Given the description of an element on the screen output the (x, y) to click on. 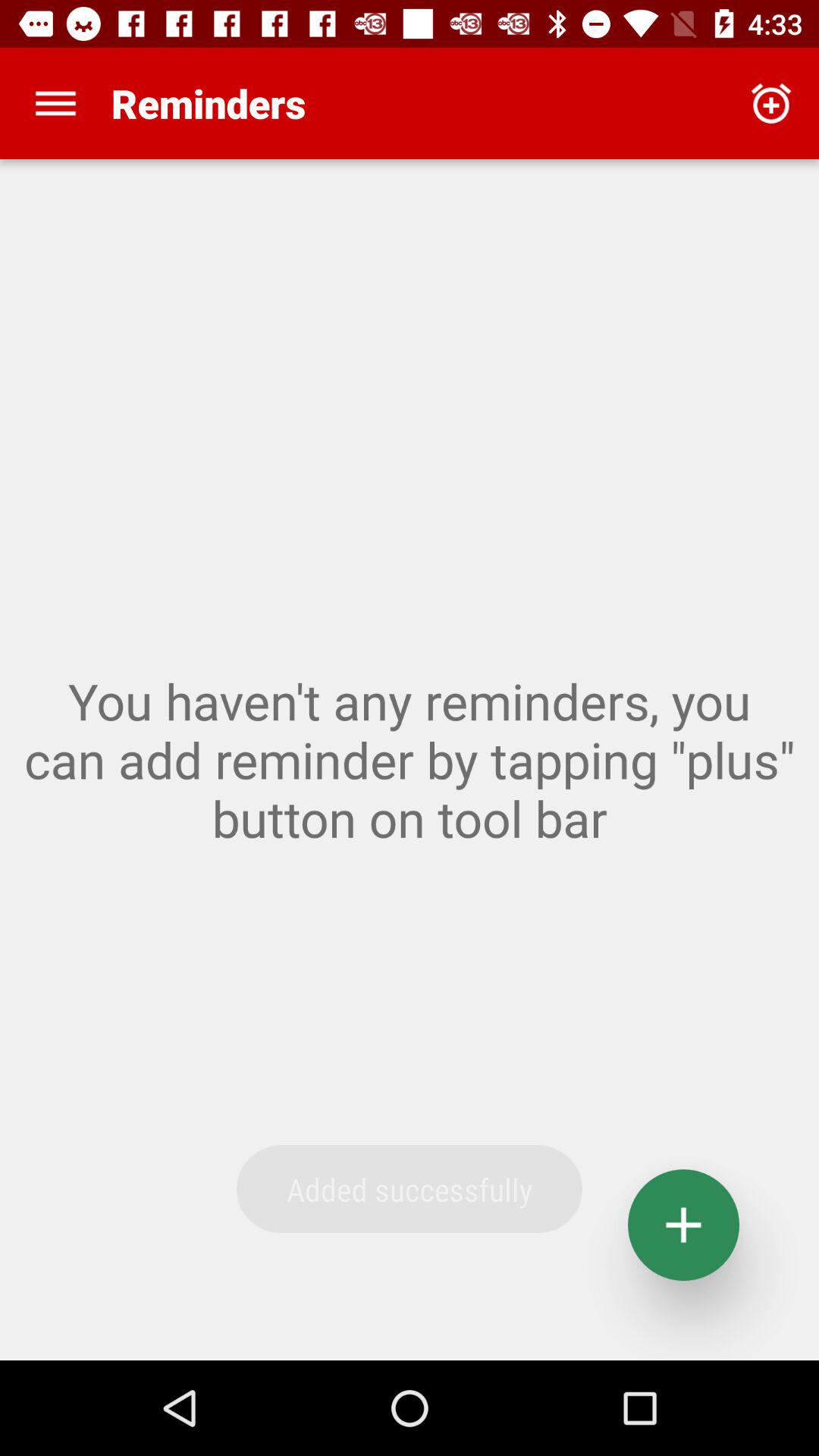
press the item above the you haven t icon (771, 103)
